Given the description of an element on the screen output the (x, y) to click on. 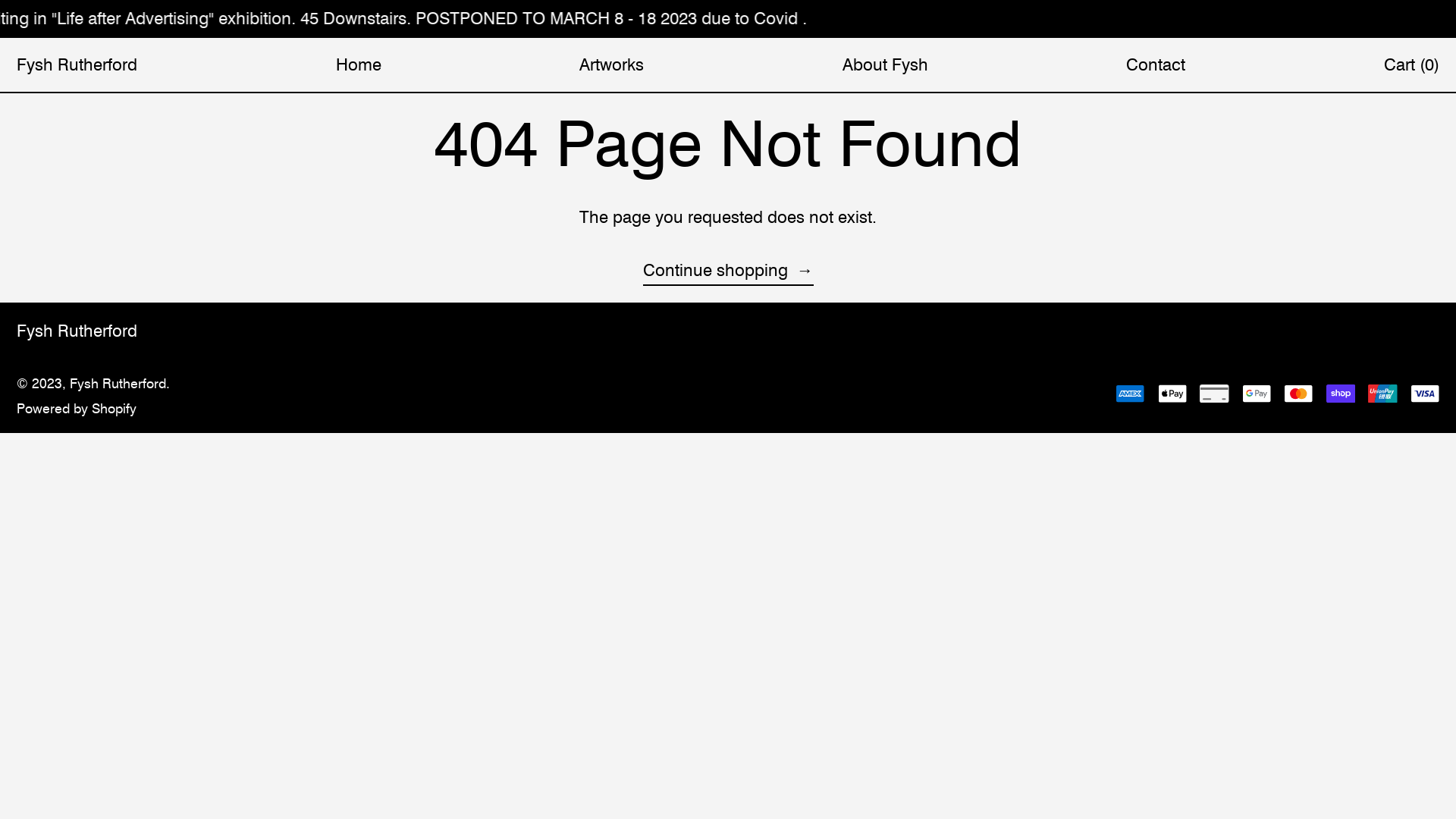
Cart (0) Element type: text (1411, 64)
Artworks Element type: text (611, 64)
Home Element type: text (358, 64)
Powered by Shopify Element type: text (76, 407)
Fysh Rutherford Element type: text (76, 64)
Fysh Rutherford Element type: text (117, 382)
Contact Element type: text (1155, 64)
About Fysh Element type: text (885, 64)
Fysh Rutherford Element type: text (76, 330)
